Given the description of an element on the screen output the (x, y) to click on. 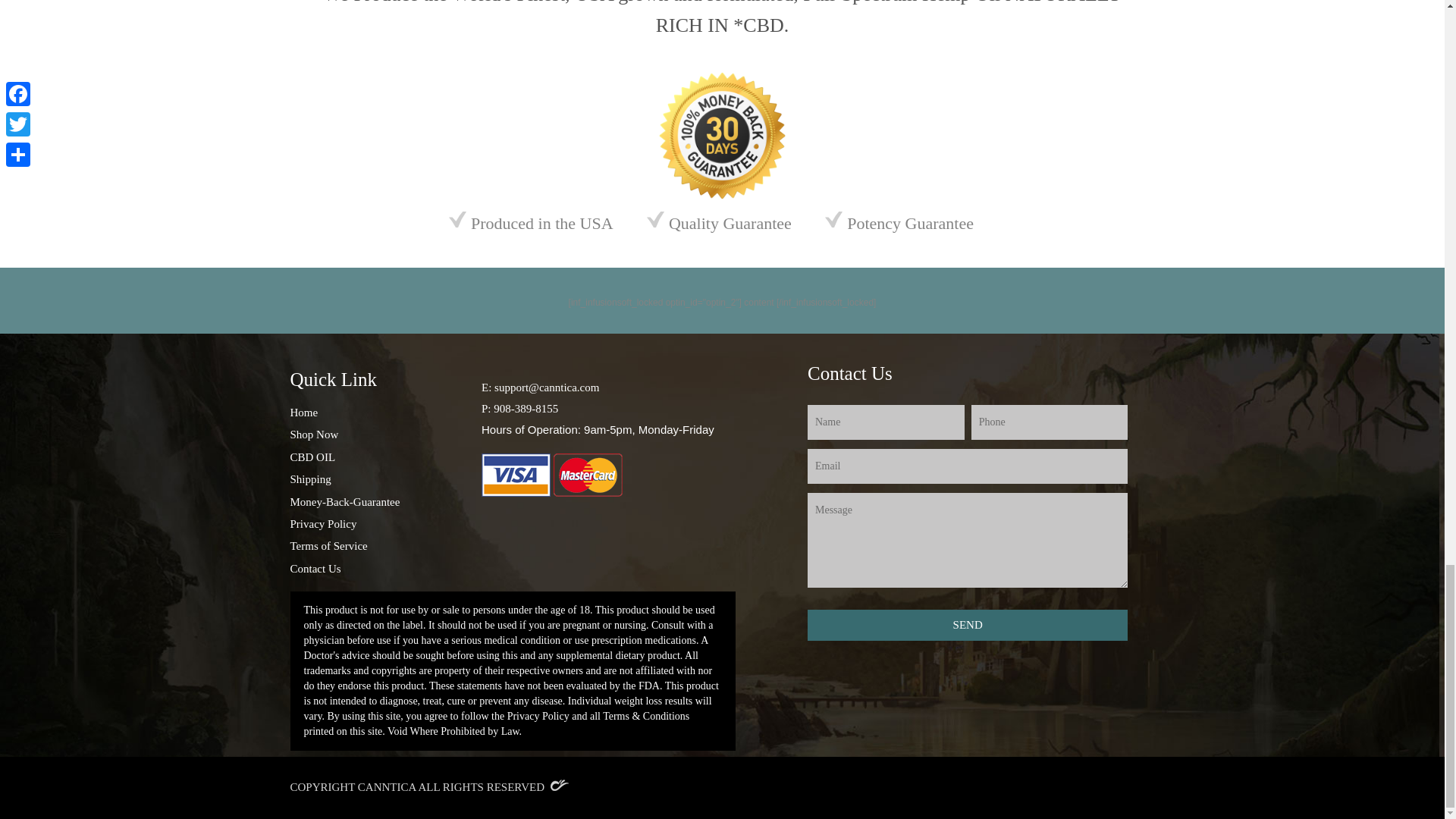
Send (967, 624)
